Given the description of an element on the screen output the (x, y) to click on. 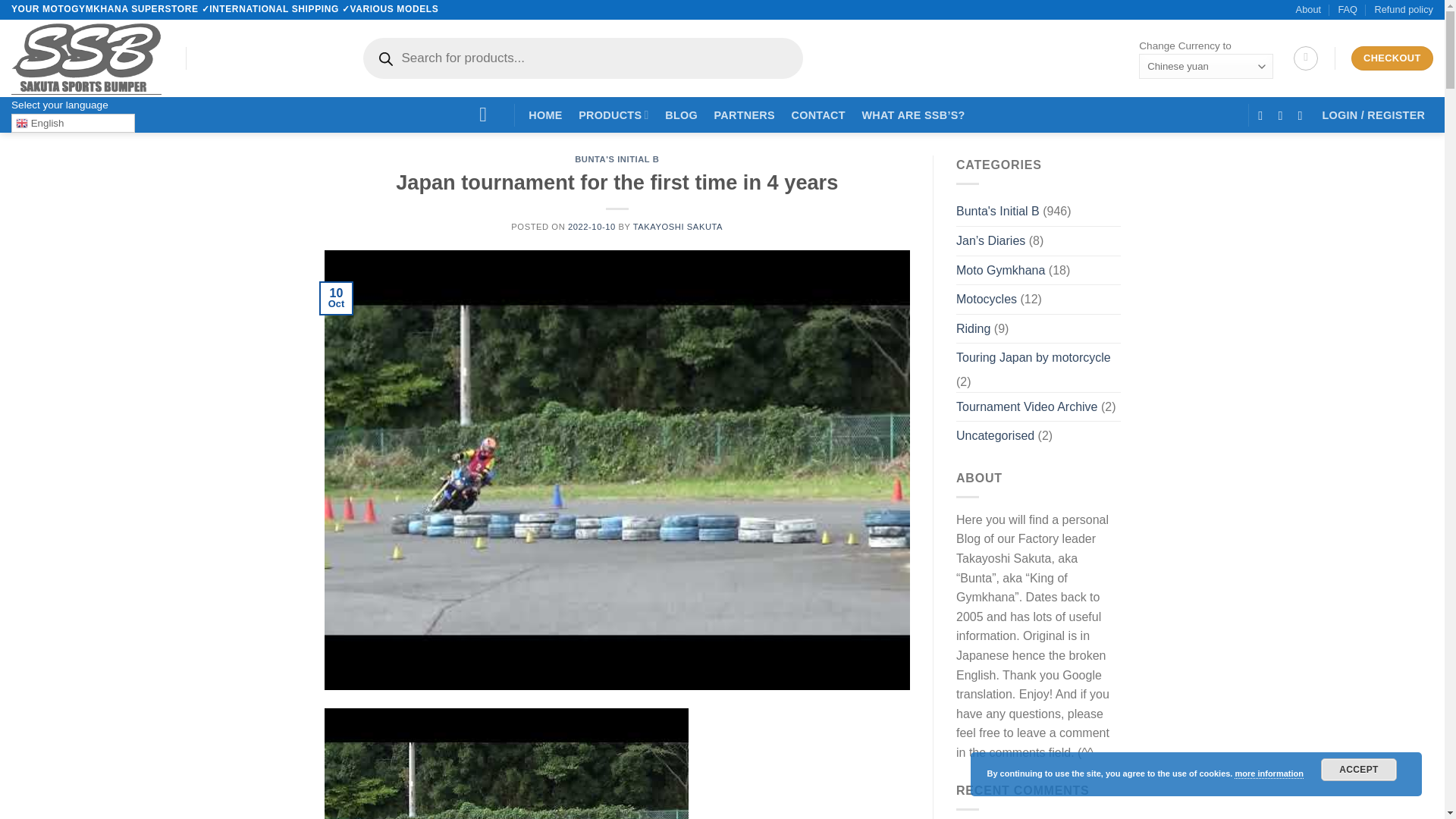
HOME (544, 114)
Follow on Facebook (1263, 115)
PRODUCTS (613, 114)
English (73, 122)
About (1307, 9)
Cart (1305, 57)
FAQ (1347, 9)
CONTACT (818, 114)
PARTNERS (744, 114)
CHECKOUT (1391, 58)
Login (1373, 114)
SSB Factory Japan - Sakuta Sports Bumper (87, 58)
BLOG (680, 114)
Refund policy (1403, 9)
Follow on Instagram (1284, 115)
